Given the description of an element on the screen output the (x, y) to click on. 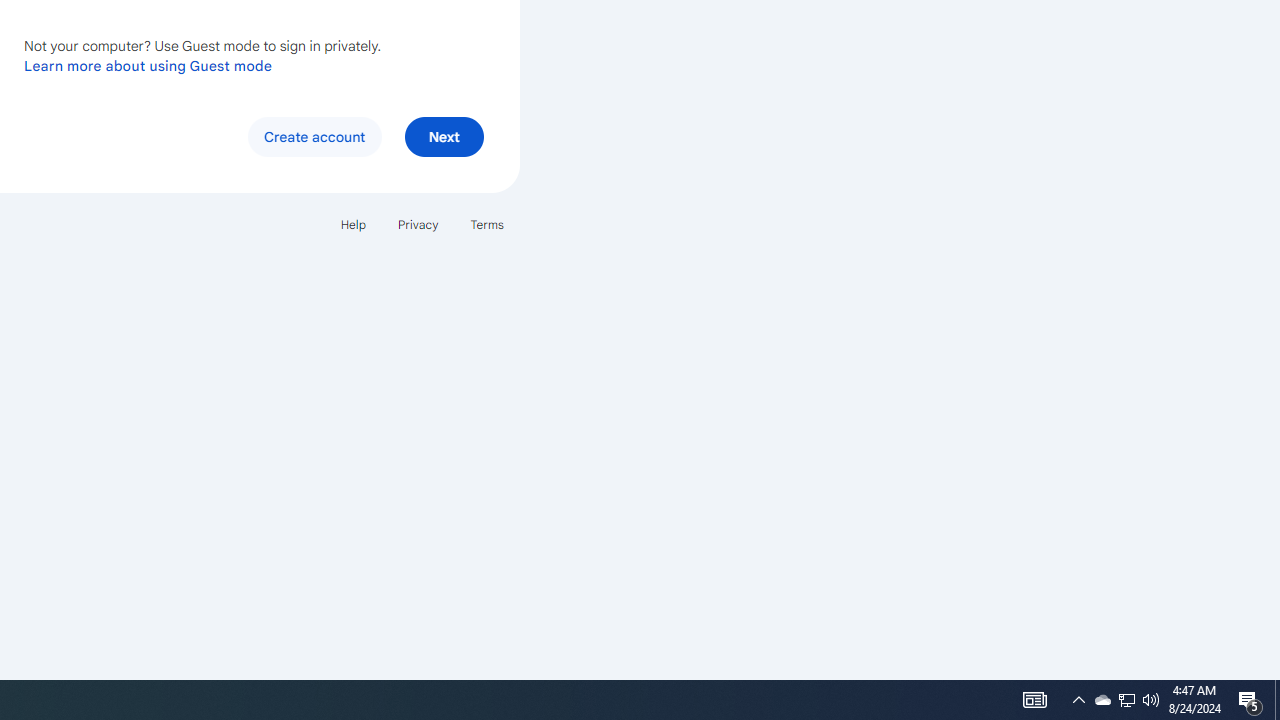
Learn more about using Guest mode (148, 65)
Next (443, 135)
Privacy (417, 224)
Help (352, 224)
Terms (486, 224)
Create account (314, 135)
